Given the description of an element on the screen output the (x, y) to click on. 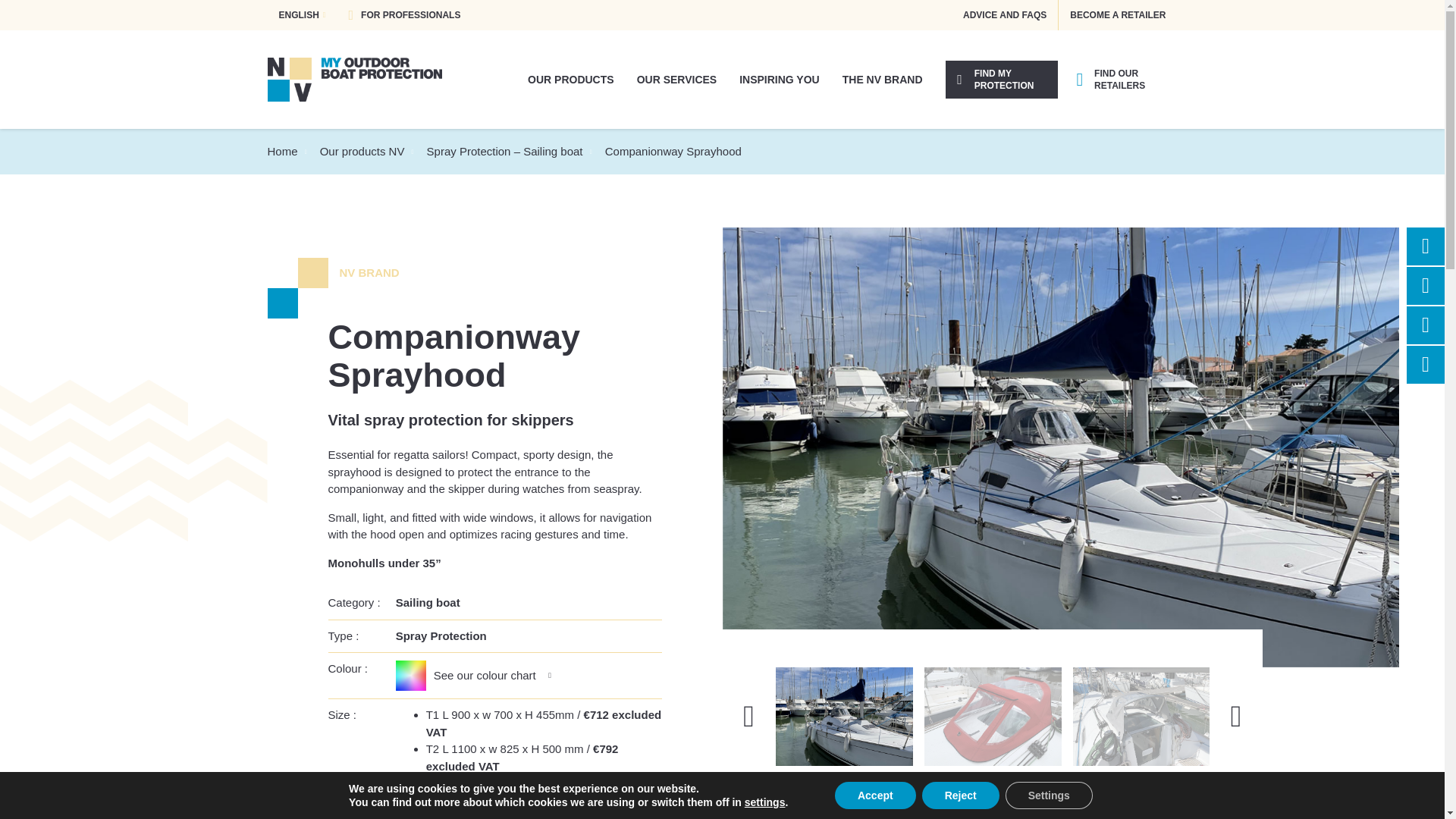
FOR PROFESSIONALS (403, 15)
ADVICE AND FAQS (1005, 15)
BECOME A RETAILER (1117, 15)
FIND OUR RETAILERS (1120, 79)
